Given the description of an element on the screen output the (x, y) to click on. 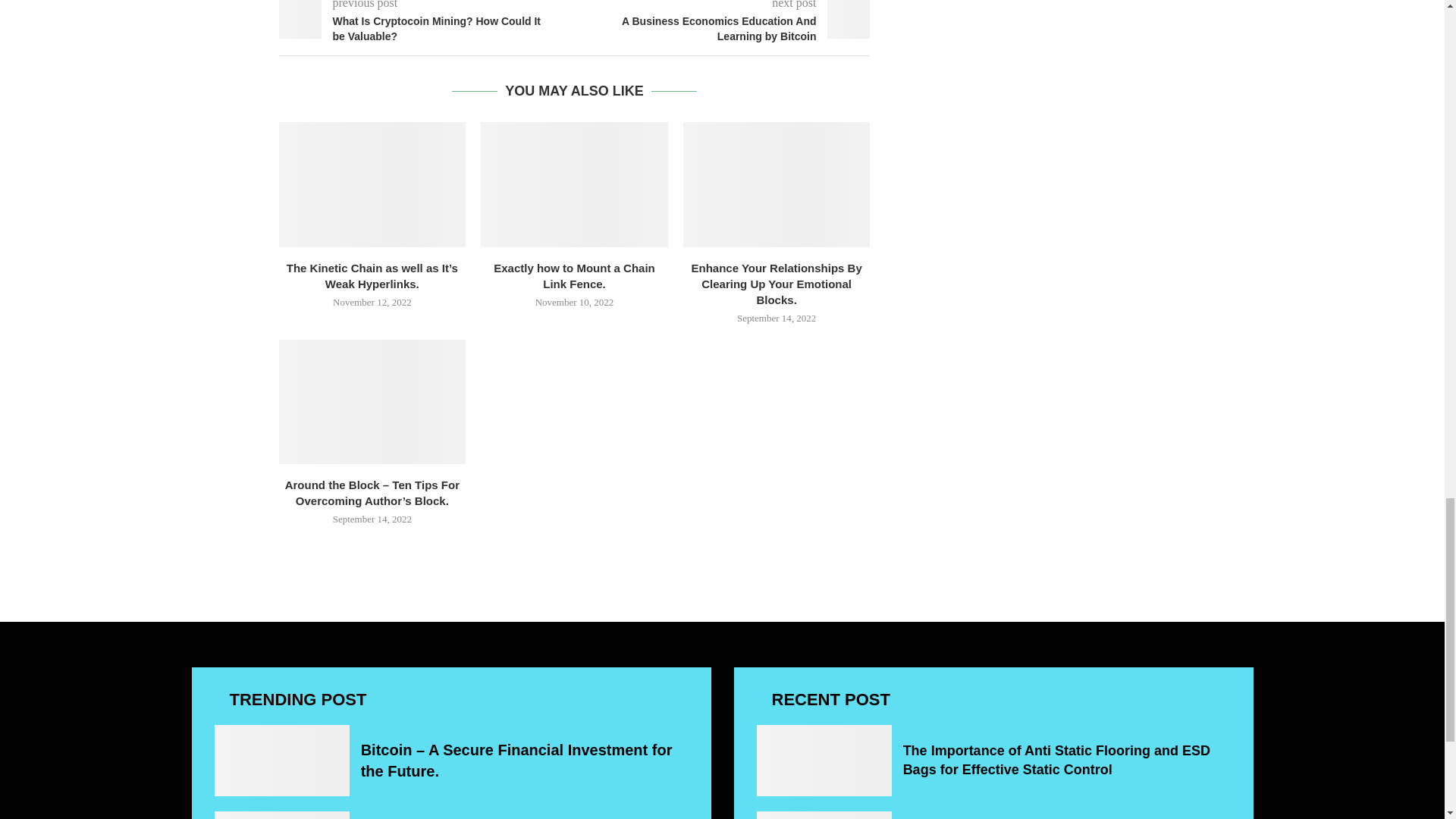
Exactly how to Mount a Chain Link Fence. (574, 184)
